Given the description of an element on the screen output the (x, y) to click on. 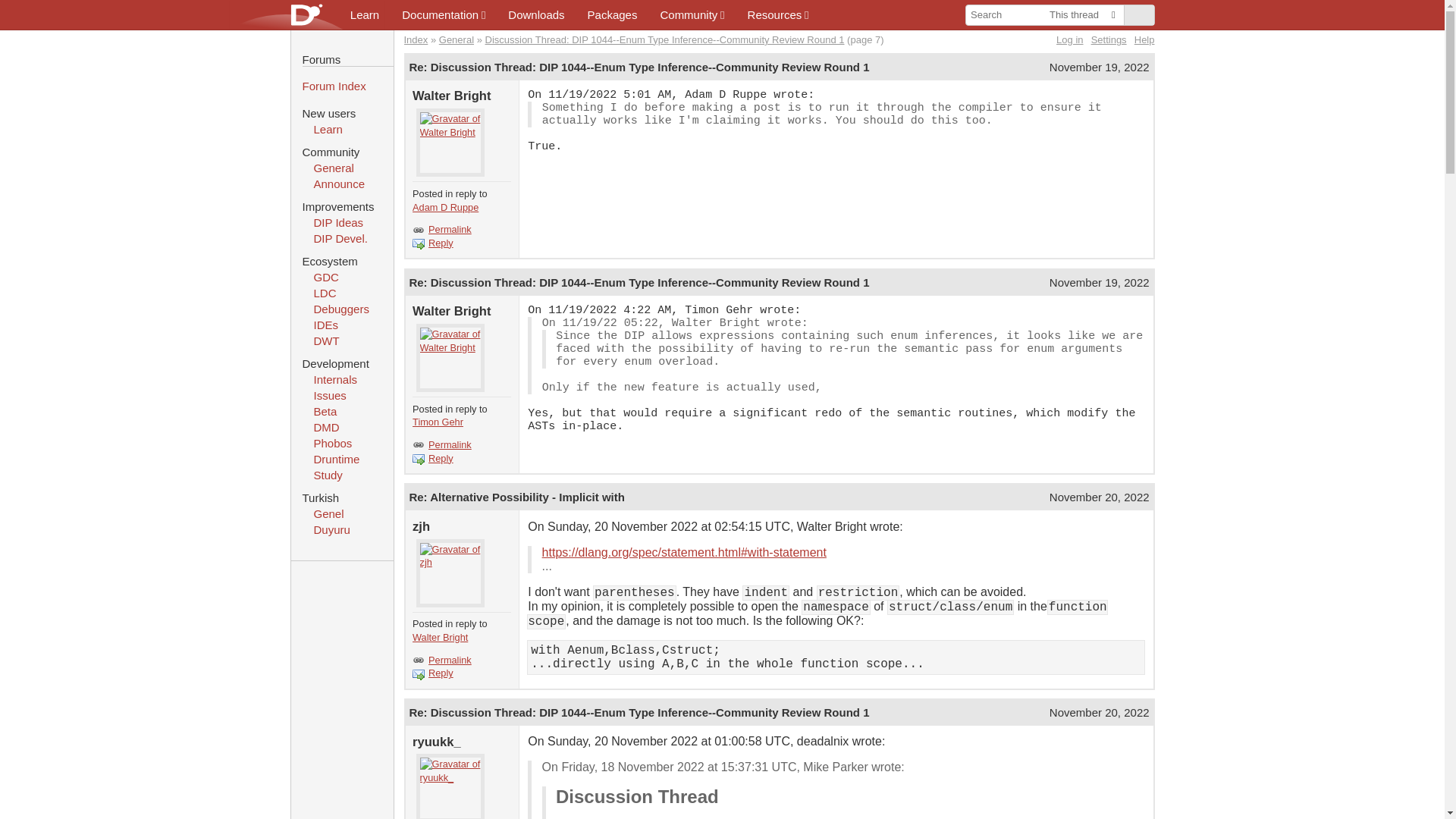
Walter Bright's Gravatar profile (450, 142)
Walter Bright's Gravatar profile (450, 357)
Documentation (443, 14)
Downloads (535, 14)
Permanent link to this post (639, 282)
Community (691, 14)
Learn (364, 14)
Resources (778, 14)
Permanent link to this post (639, 66)
Packages (612, 14)
Permanent link to this post (516, 496)
Reply to this post (441, 459)
Reply to this post (441, 243)
Saturday, 19 November 2022, 18:56:03 -08:00 (1099, 66)
